Given the description of an element on the screen output the (x, y) to click on. 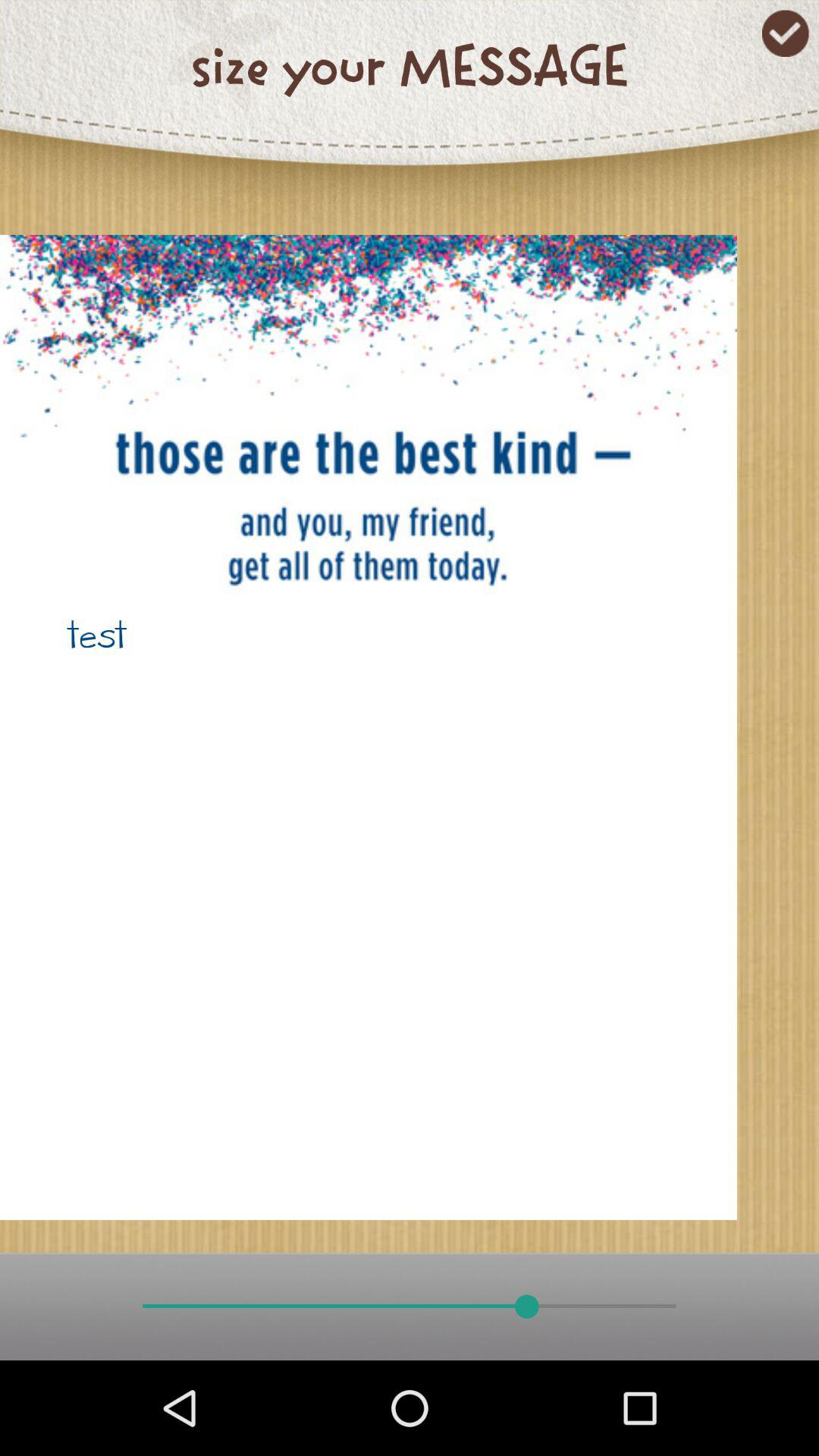
confirms and exits out of message screen (785, 33)
